Given the description of an element on the screen output the (x, y) to click on. 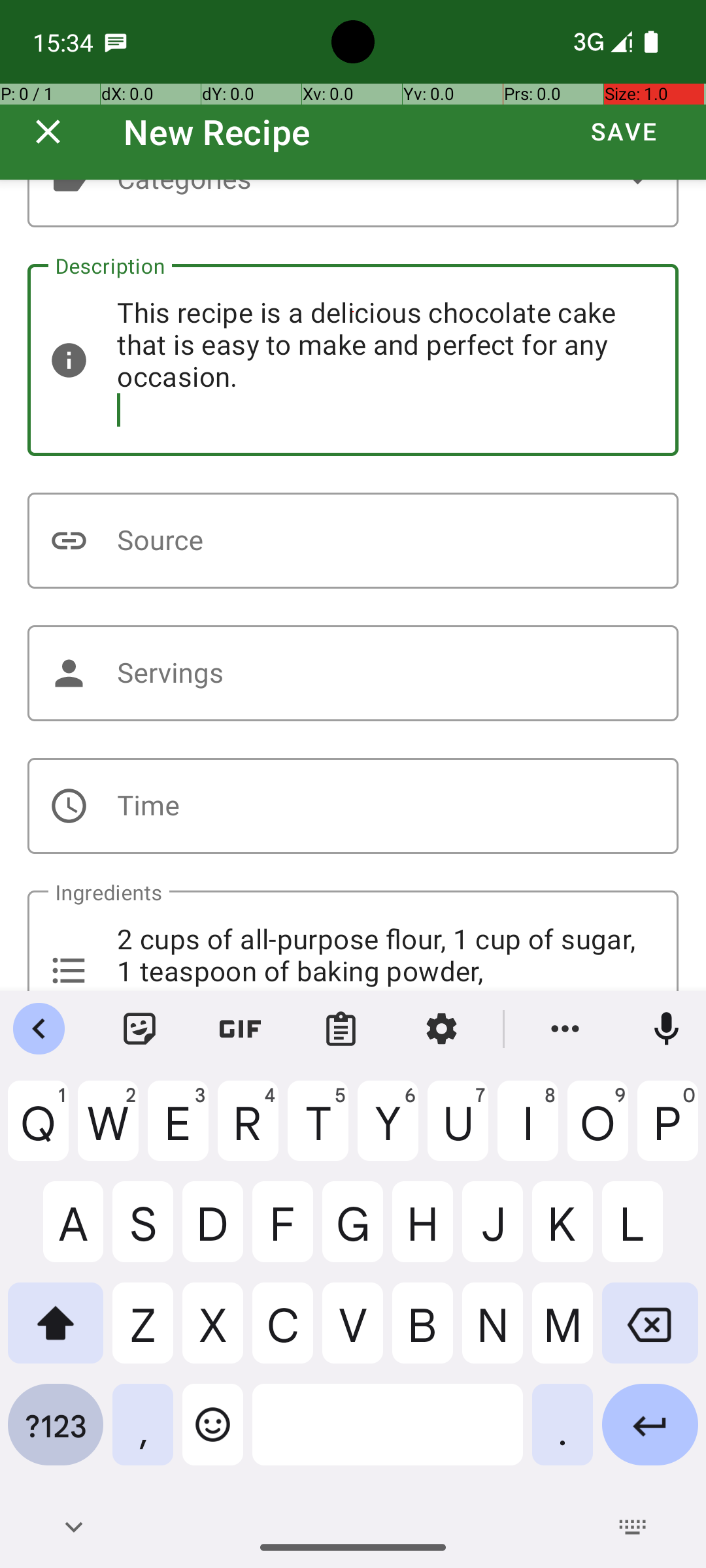
This recipe is a delicious chocolate cake that is easy to make and perfect for any occasion.
 Element type: android.widget.EditText (352, 359)
2 cups of all-purpose flour, 1 cup of sugar, 1 teaspoon of baking powder,
 Element type: android.widget.EditText (352, 940)
